Given the description of an element on the screen output the (x, y) to click on. 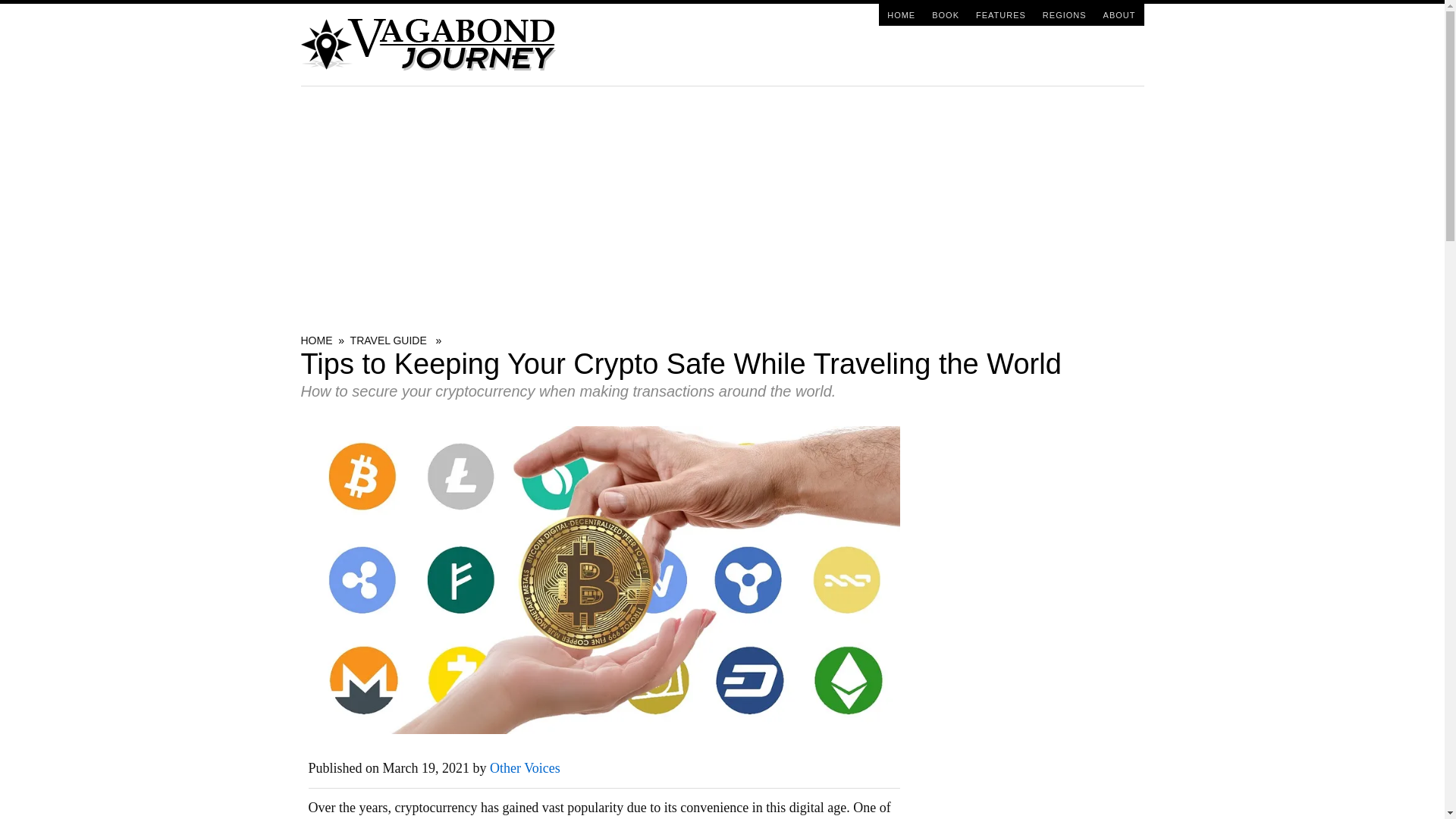
Home (901, 14)
HOME (901, 14)
FEATURES (1000, 14)
Other Voices (524, 767)
TRAVEL GUIDE (388, 340)
BOOK (945, 14)
2021-03-19 (425, 767)
HOME (315, 340)
ABOUT (1119, 14)
